Given the description of an element on the screen output the (x, y) to click on. 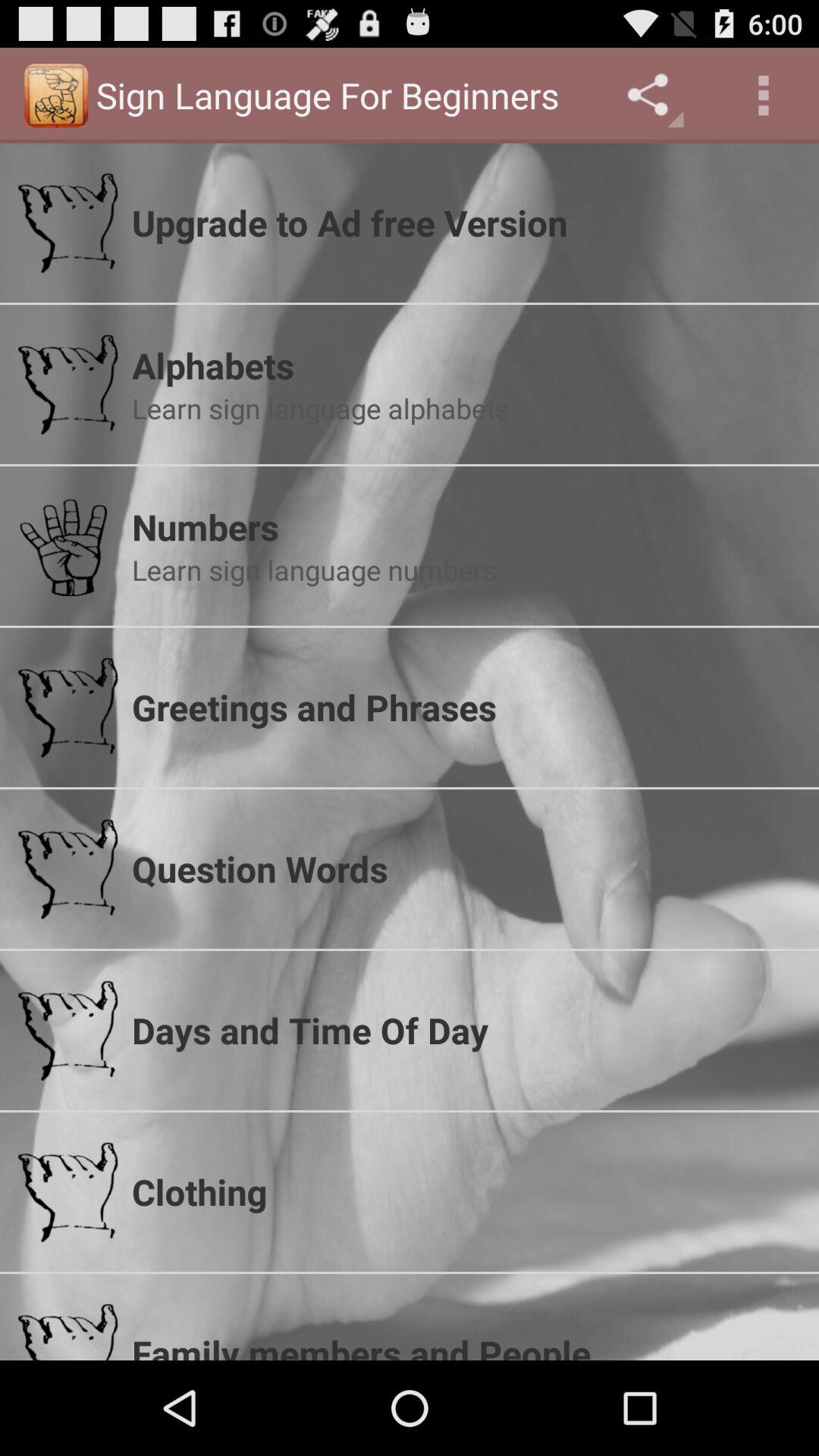
flip to greetings and phrases app (465, 707)
